Given the description of an element on the screen output the (x, y) to click on. 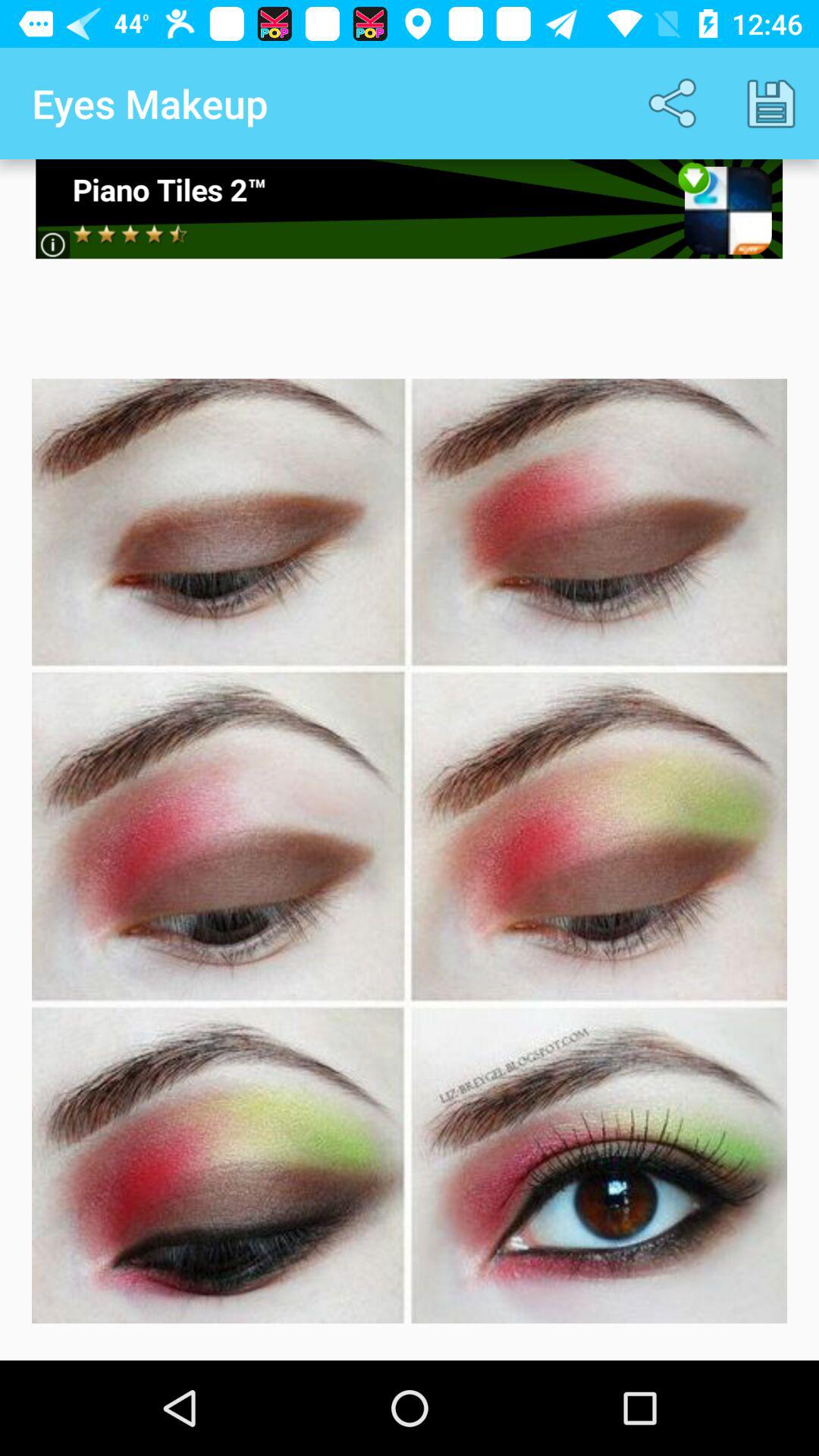
turn on app next to eyes makeup item (675, 103)
